Given the description of an element on the screen output the (x, y) to click on. 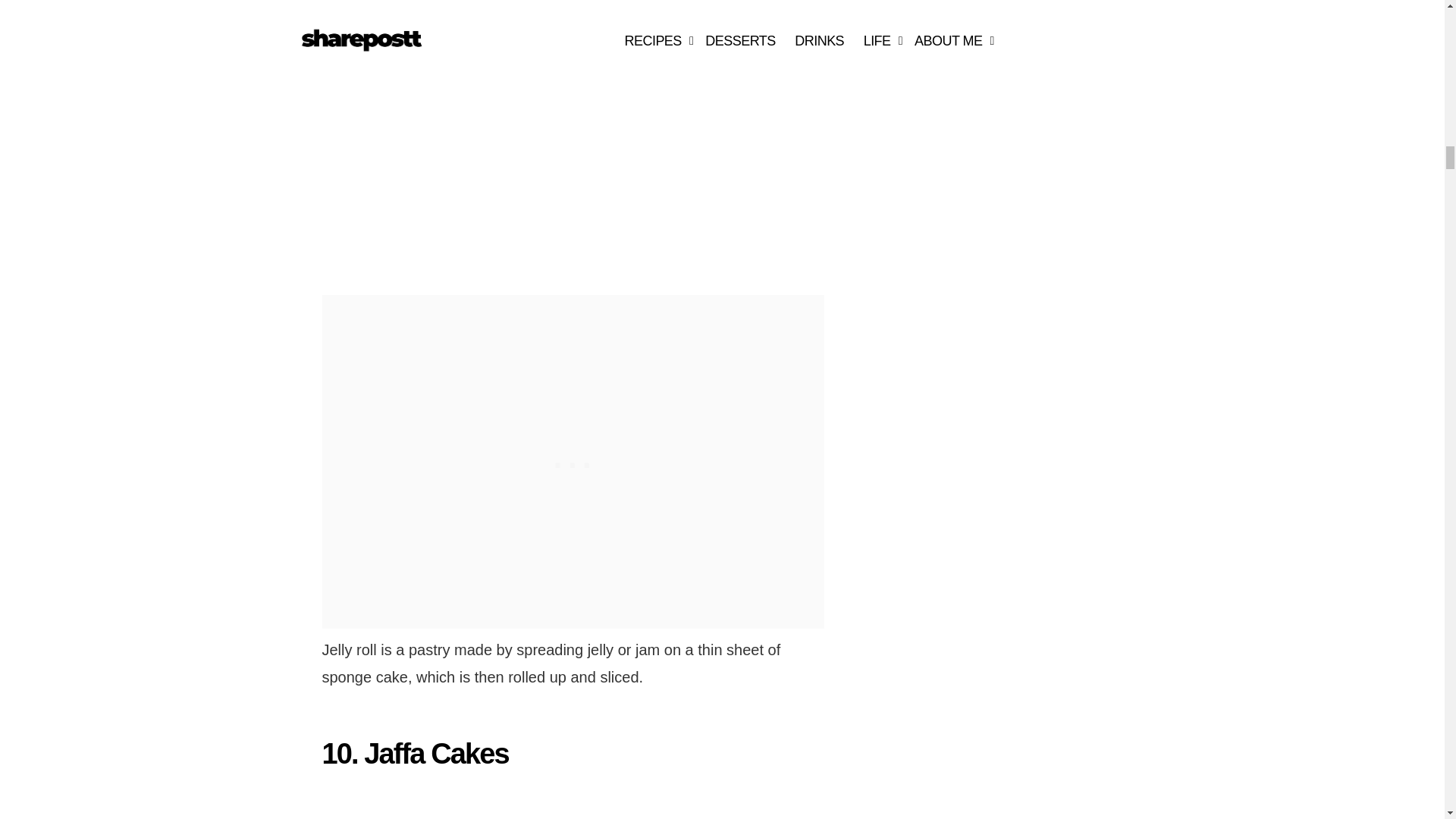
Old-Fashioned Jelly Roll (491, 135)
